Given the description of an element on the screen output the (x, y) to click on. 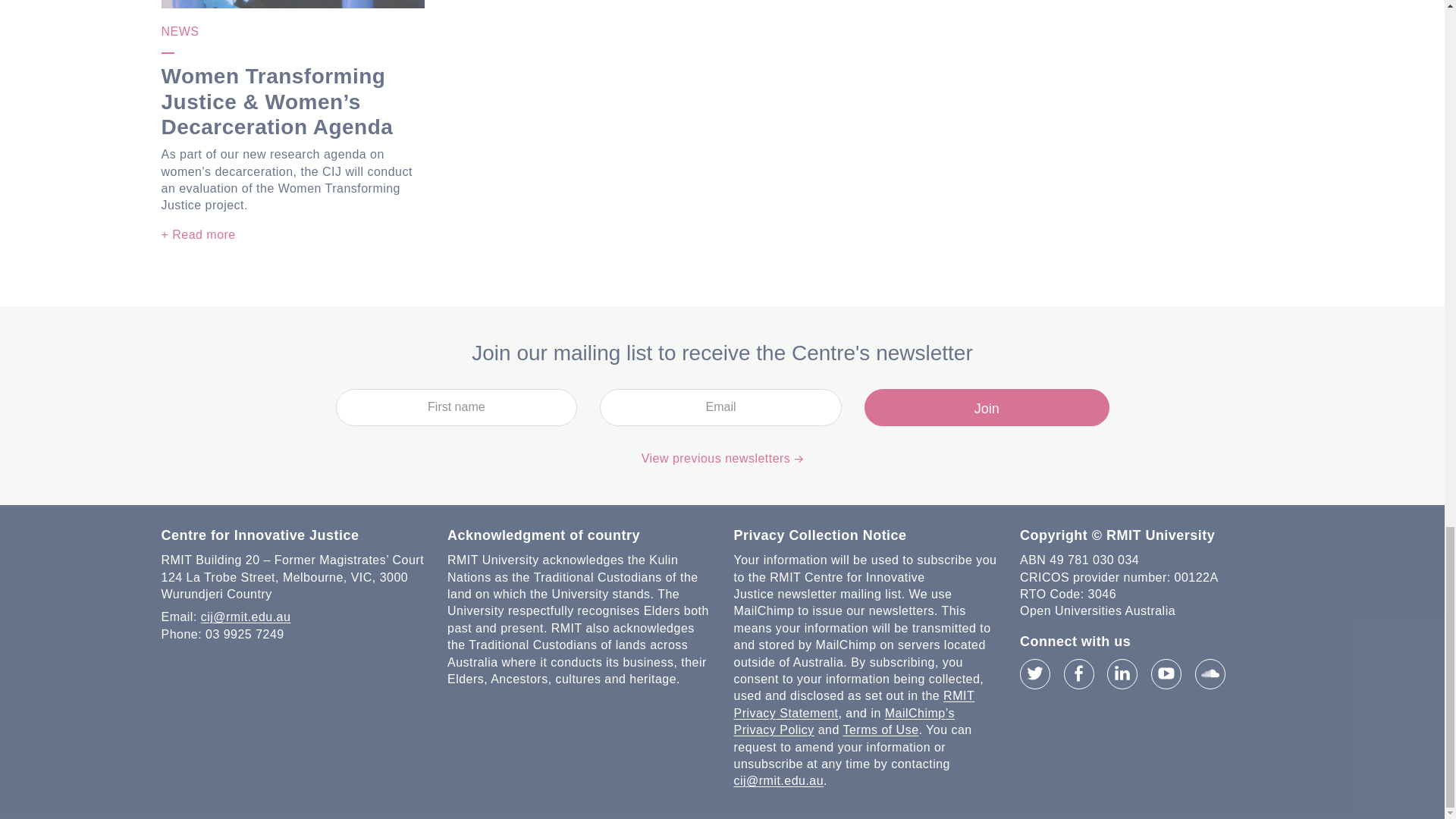
Join (986, 407)
View previous newsletters (722, 458)
RMIT Privacy Statement (854, 704)
Read more (197, 234)
Terms of Use (880, 729)
